Given the description of an element on the screen output the (x, y) to click on. 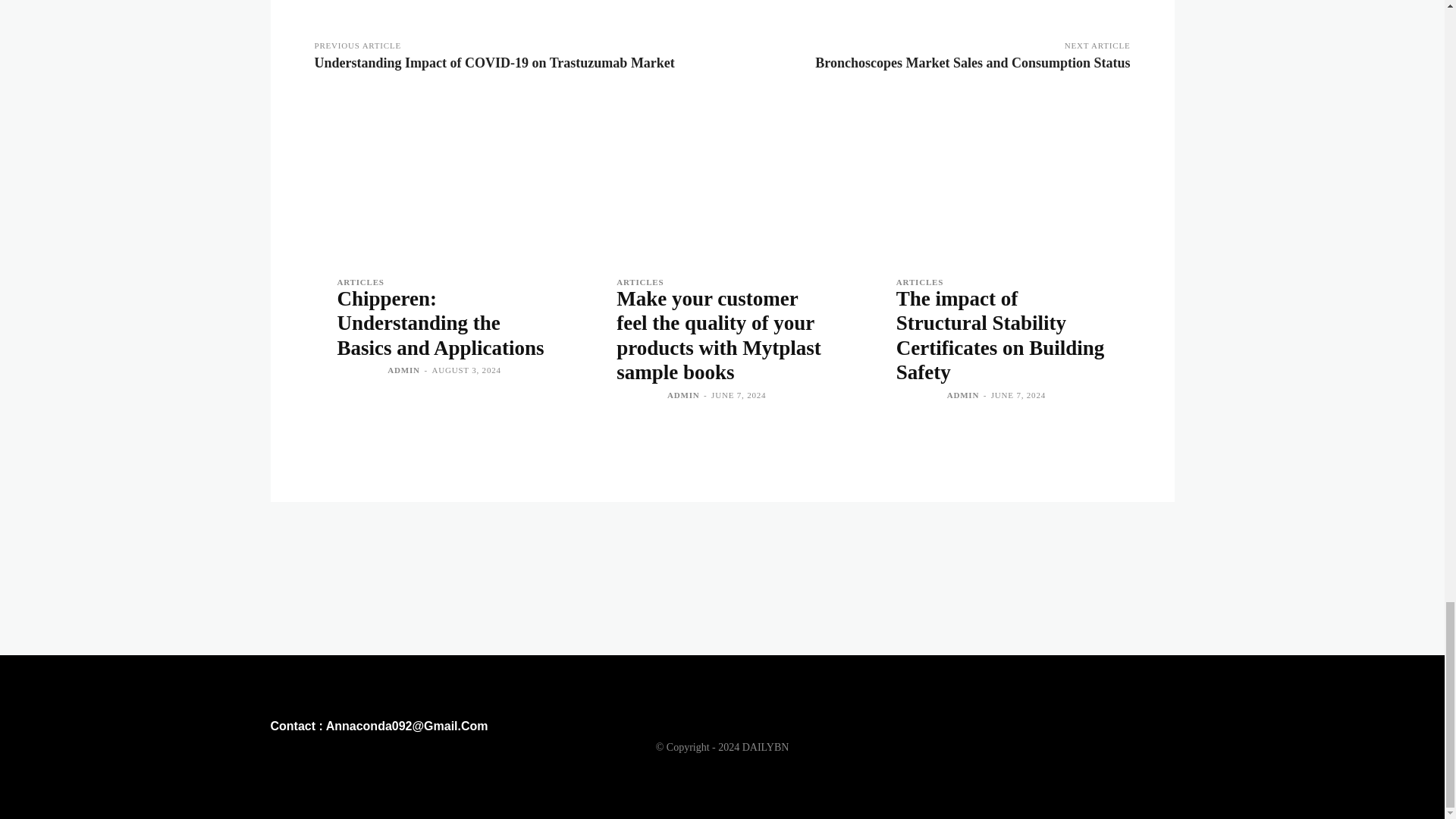
Chipperen: Understanding the Basics and Applications (439, 323)
Chipperen: Understanding the Basics and Applications (442, 178)
